Given the description of an element on the screen output the (x, y) to click on. 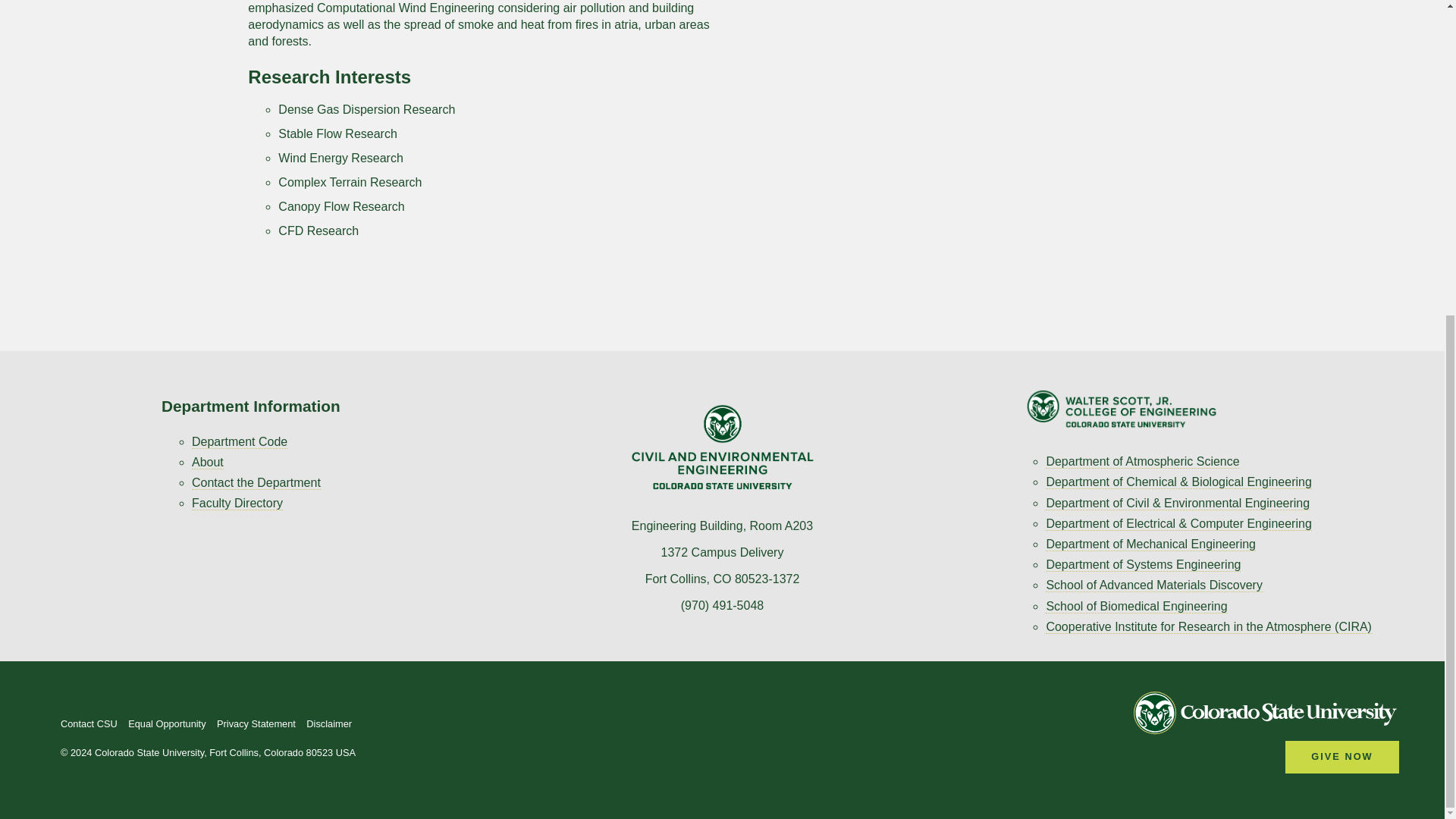
Colorado State University (1266, 716)
Department of Civil and Environmental Engineering (721, 446)
Walter Scott, Jr. College of Engineering logo (1120, 408)
Give Now (1342, 757)
